Given the description of an element on the screen output the (x, y) to click on. 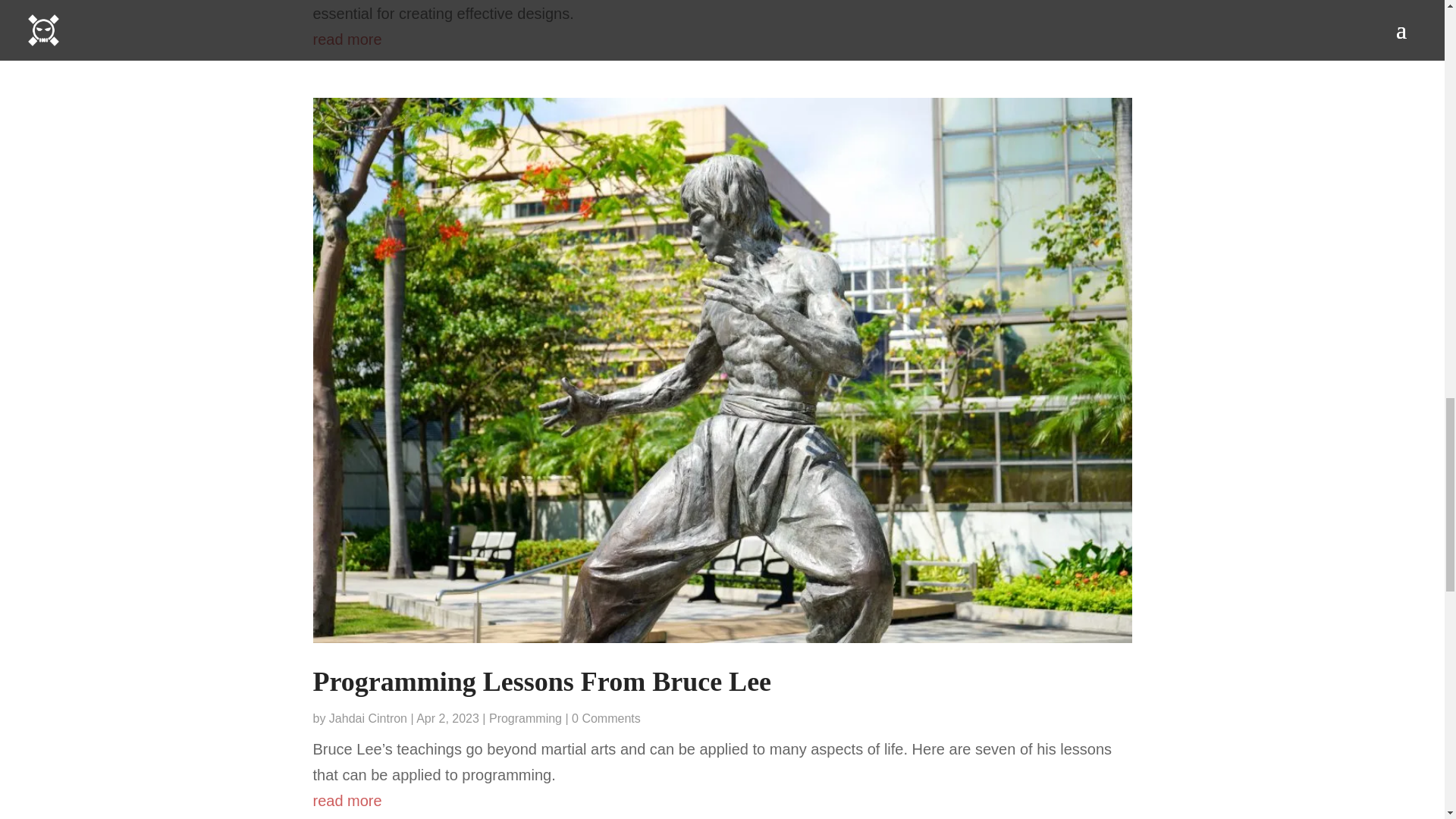
Programming Lessons From Bruce Lee (542, 681)
read more (722, 39)
Jahdai Cintron (368, 717)
read more (722, 800)
Programming (525, 717)
Posts by Jahdai Cintron (368, 717)
